Given the description of an element on the screen output the (x, y) to click on. 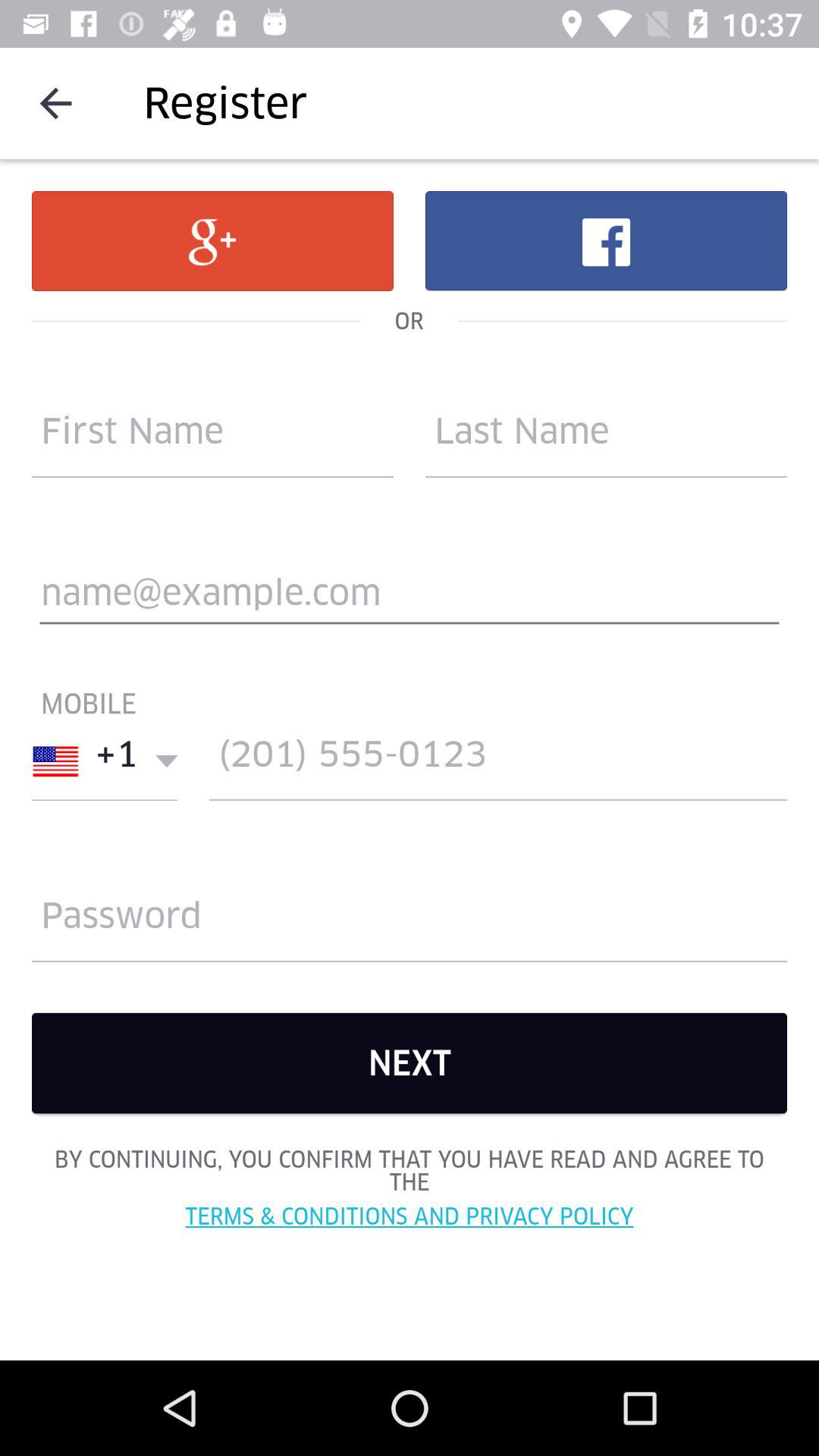
enter password (409, 922)
